Given the description of an element on the screen output the (x, y) to click on. 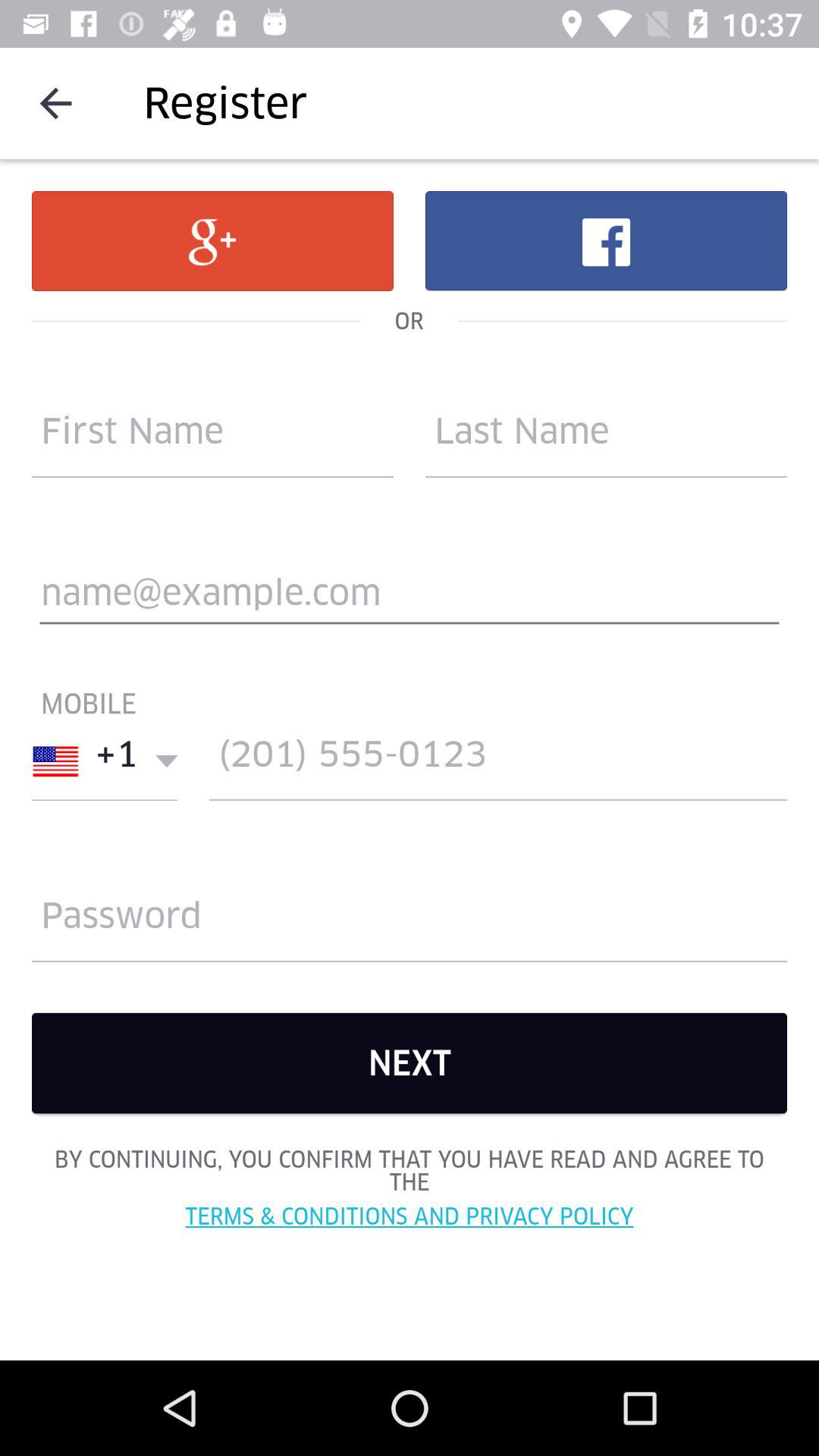
enter password (409, 922)
